Given the description of an element on the screen output the (x, y) to click on. 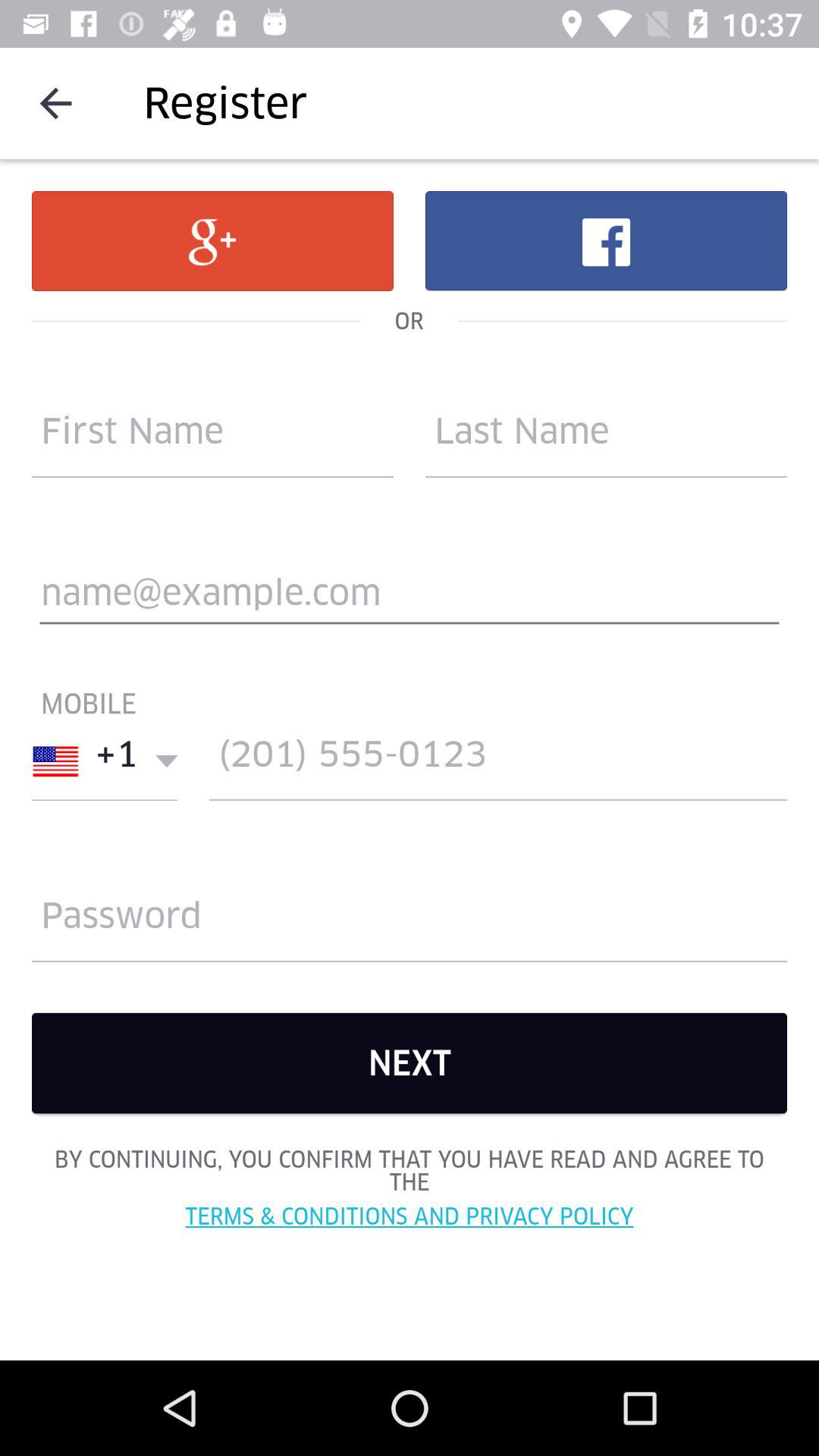
enter password (409, 922)
